Given the description of an element on the screen output the (x, y) to click on. 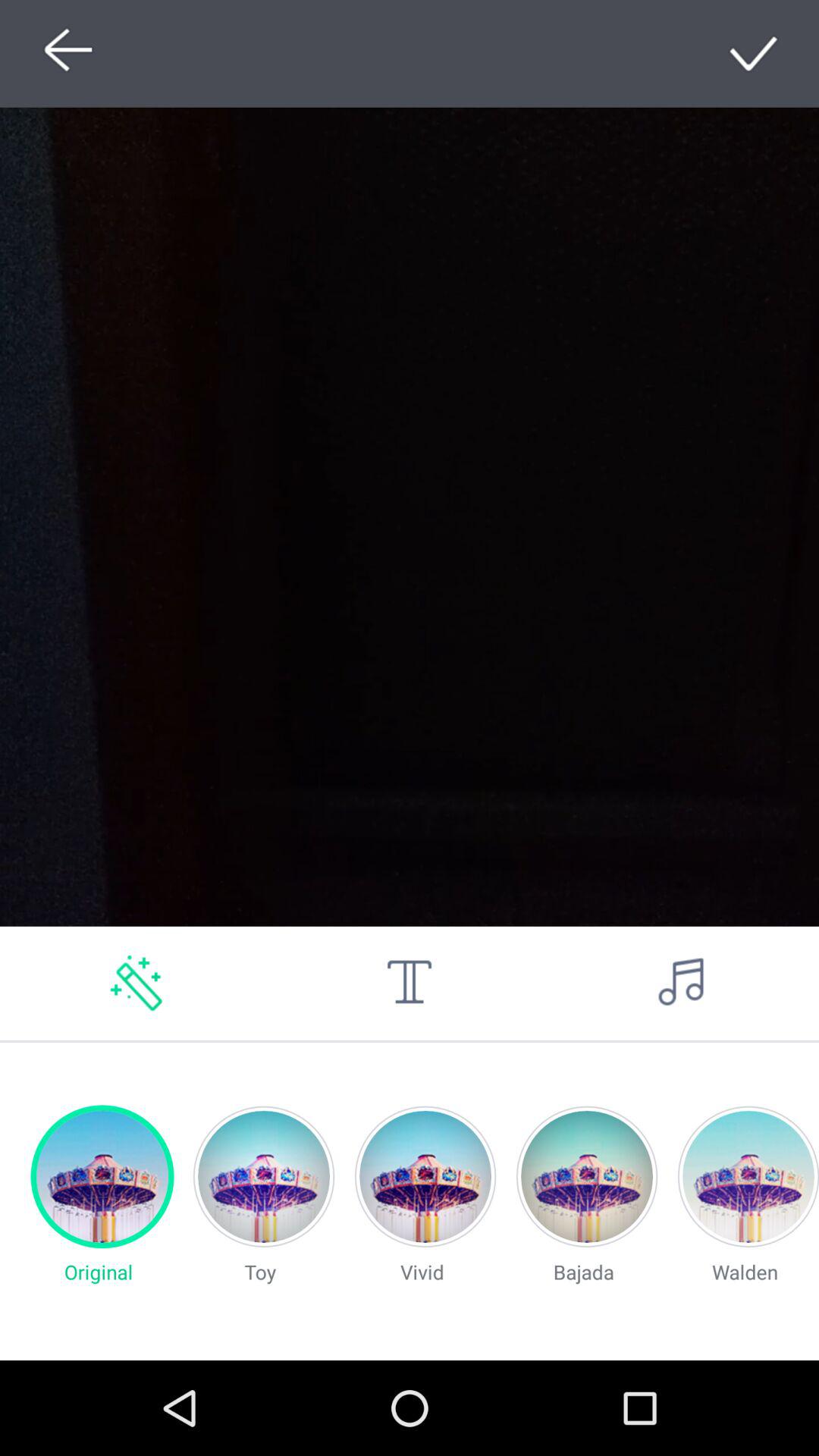
edit image (136, 983)
